Given the description of an element on the screen output the (x, y) to click on. 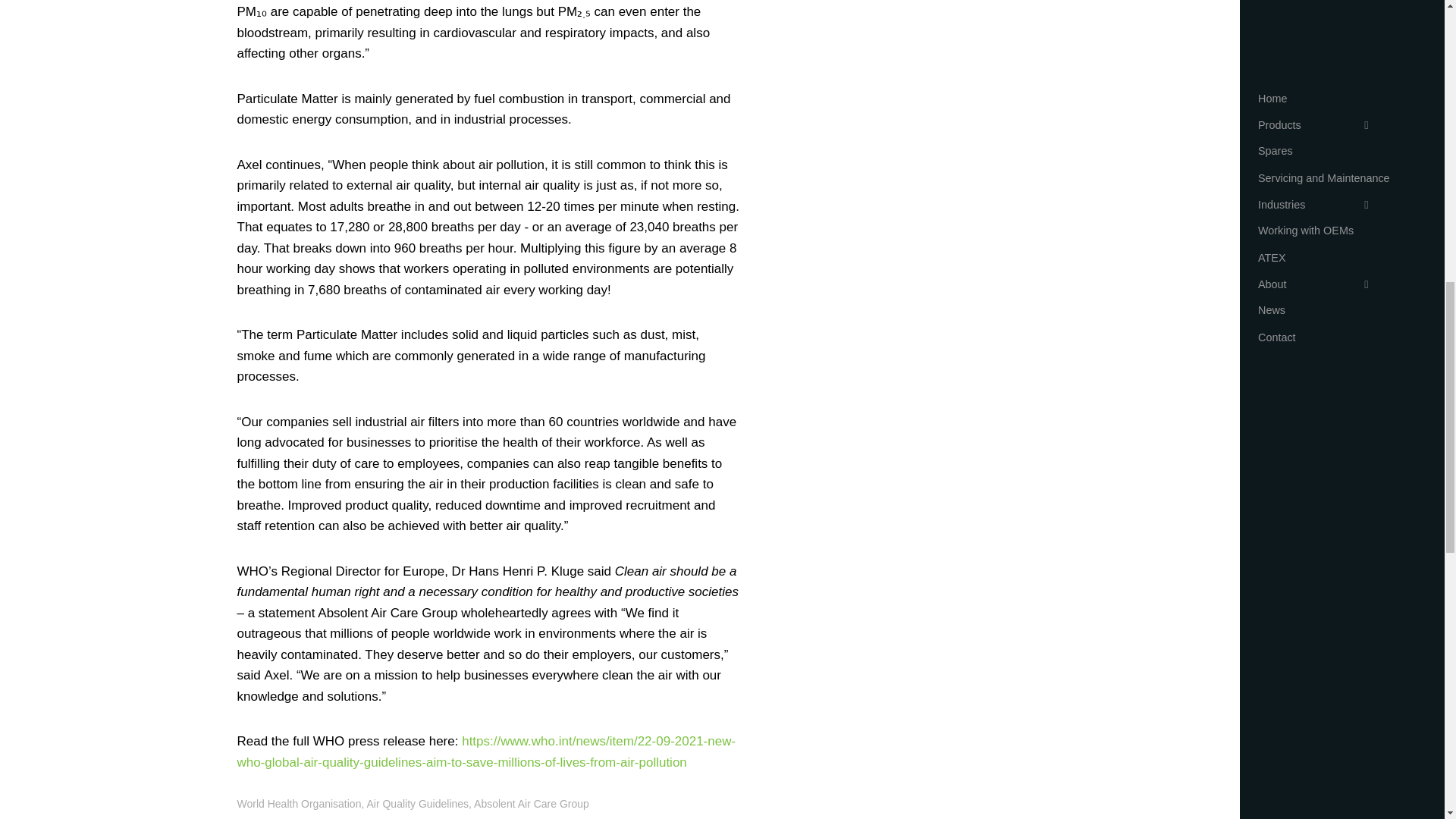
Absolent Air Care Group (531, 803)
Air Quality Guidelines (417, 803)
World Health Organisation (298, 803)
